Given the description of an element on the screen output the (x, y) to click on. 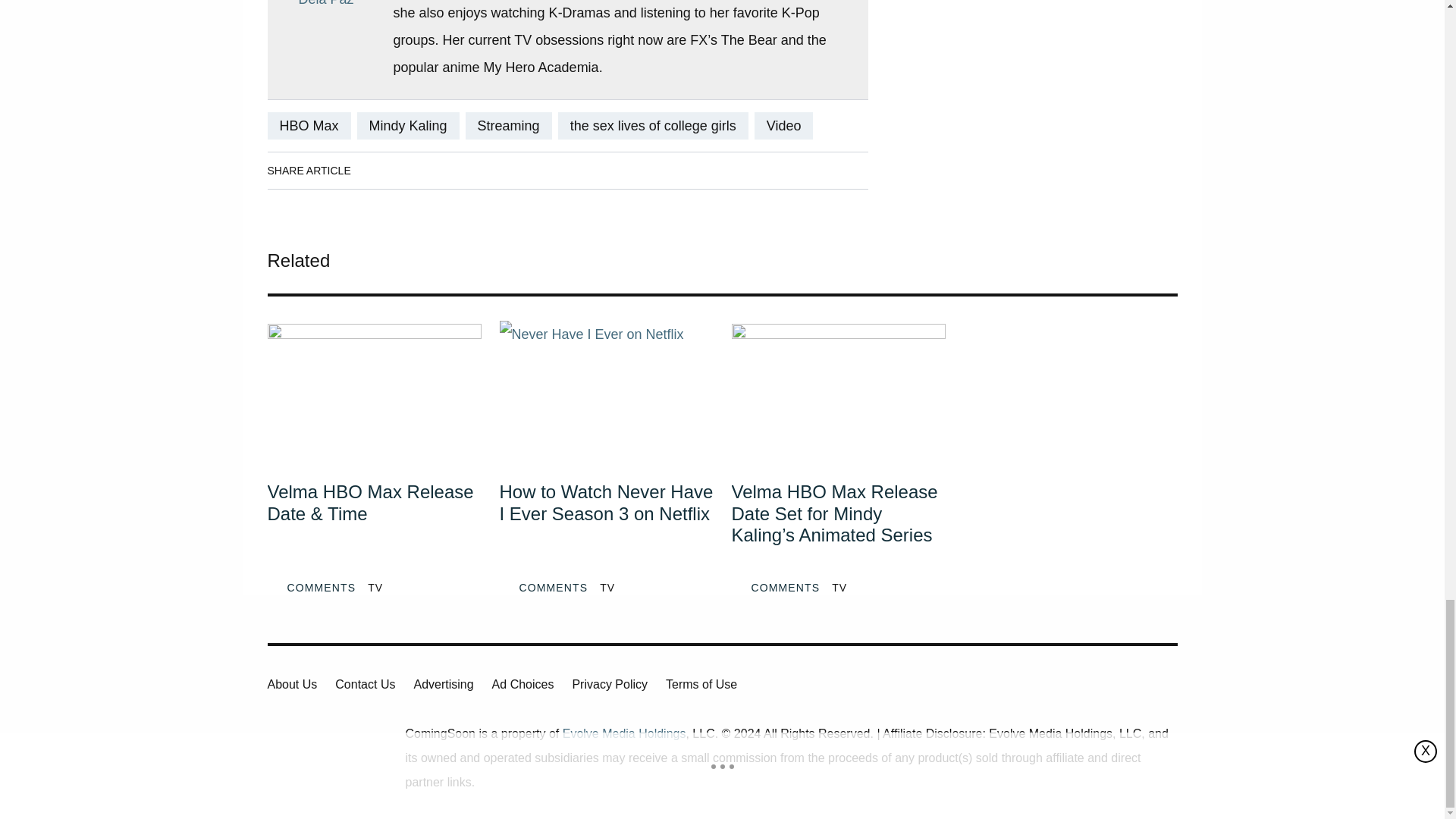
How to Watch Never Have I Ever Season 3 on Netflix (606, 392)
How to Watch Never Have I Ever Season 3 on Netflix (606, 524)
